Given the description of an element on the screen output the (x, y) to click on. 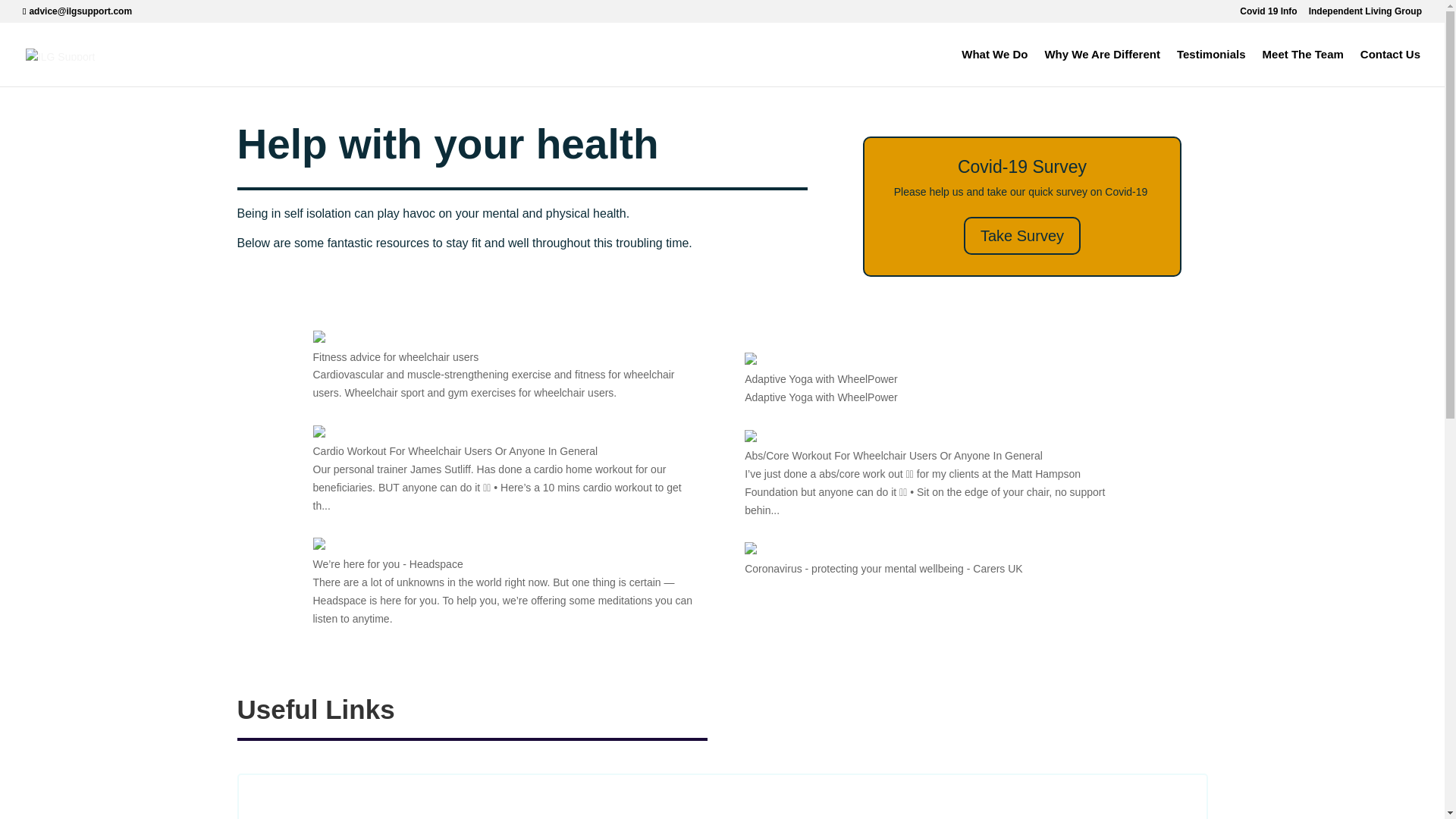
Testimonials (1211, 67)
Covid 19 Info (1268, 14)
Coronavirus - protecting your mental wellbeing - Carers UK (937, 560)
Meet The Team (1302, 67)
Fitness advice for wheelchair users (505, 366)
Take Survey (1021, 235)
Independent Living Group (1365, 14)
What We Do (993, 67)
Cardio Workout For Wheelchair Users Or Anyone In General (505, 470)
Why We Are Different (1101, 67)
